Given the description of an element on the screen output the (x, y) to click on. 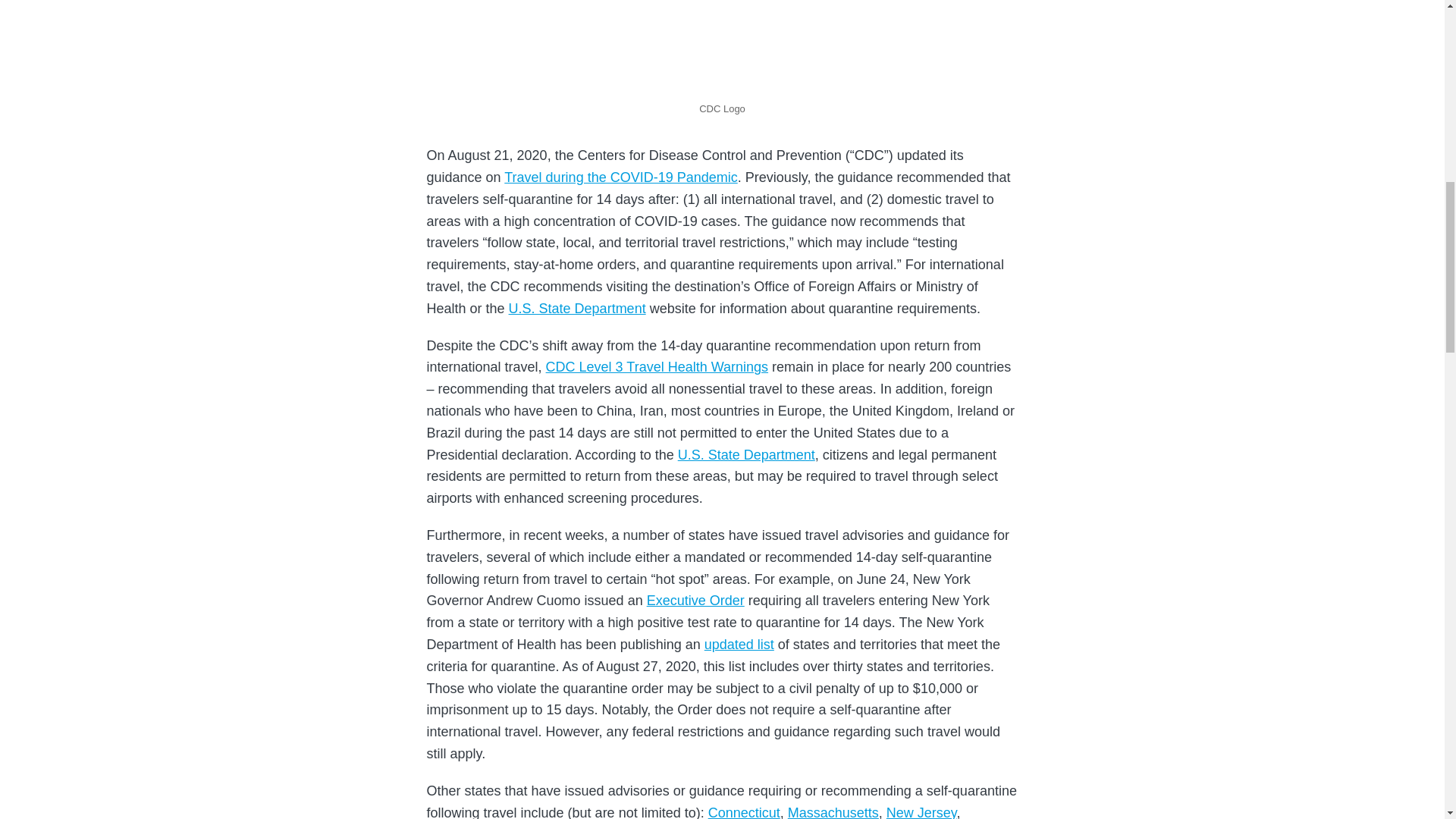
CDC Level 3 Travel Health Warnings (657, 366)
updated list (739, 644)
Connecticut (743, 812)
U.S. State Department (577, 308)
Travel during the COVID-19 Pandemic (619, 177)
U.S. State Department (746, 454)
Executive Order (695, 600)
Massachusetts (833, 812)
New Jersey (921, 812)
